Given the description of an element on the screen output the (x, y) to click on. 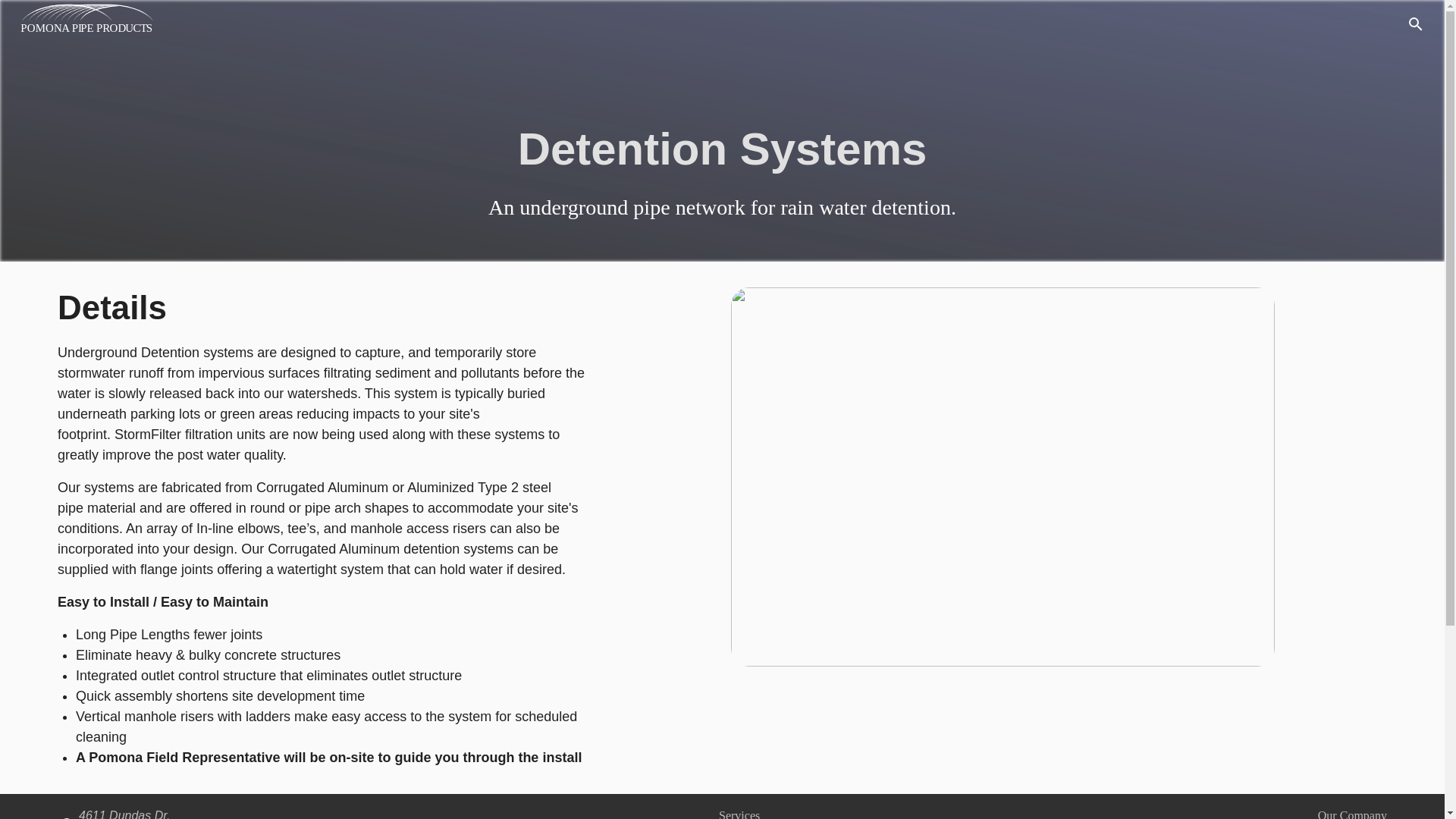
Services (739, 814)
Our Company (1352, 814)
